Given the description of an element on the screen output the (x, y) to click on. 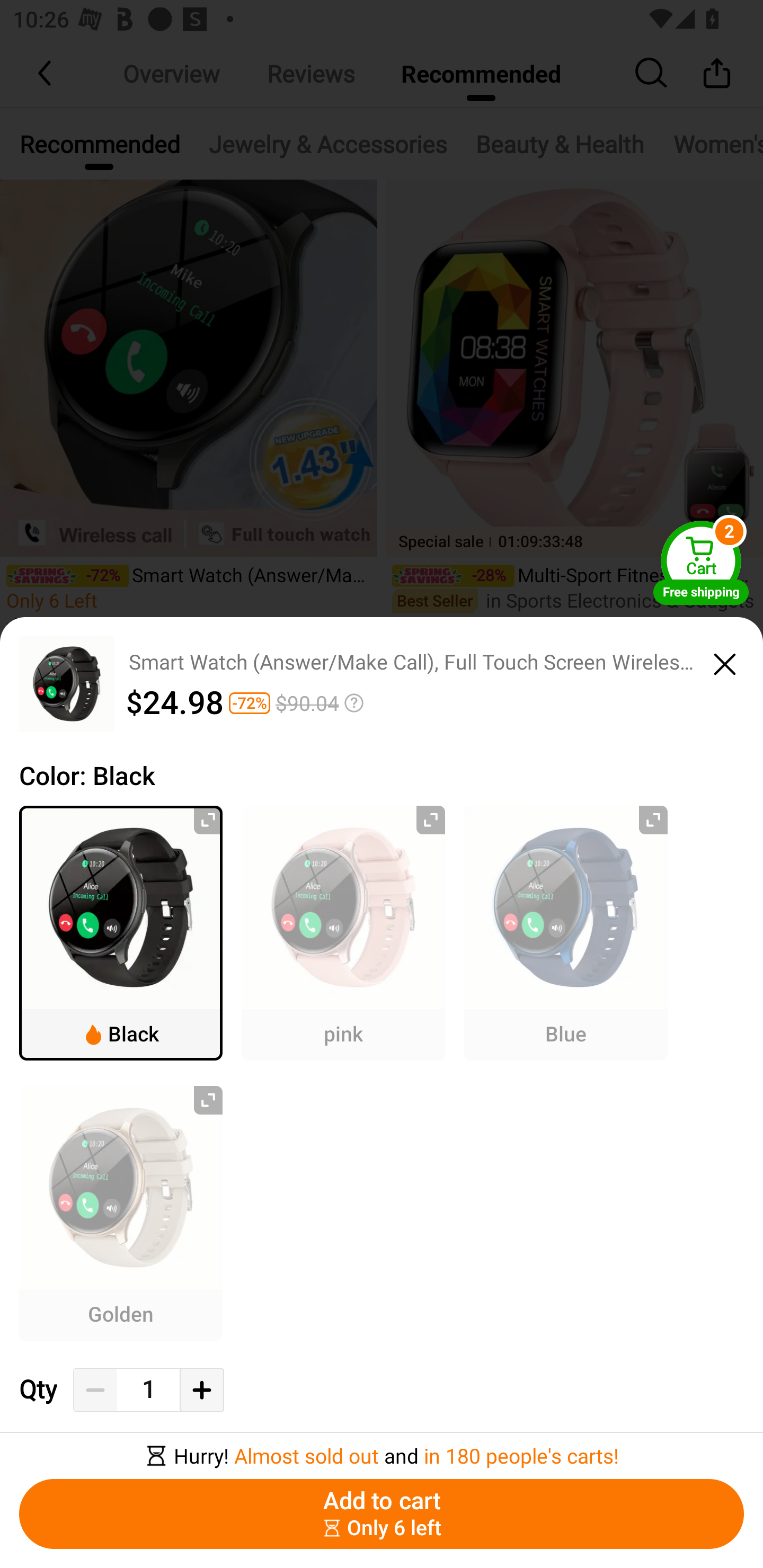
Cart Free shipping Cart (701, 561)
close (724, 661)
Black ￼Black (120, 932)
pink (342, 932)
Blue (565, 932)
Golden (120, 1213)
Decrease Quantity Button (95, 1389)
Add Quantity Button (201, 1389)
1 (148, 1389)
Add to cart ￼￼Only 6 left (381, 1513)
